Given the description of an element on the screen output the (x, y) to click on. 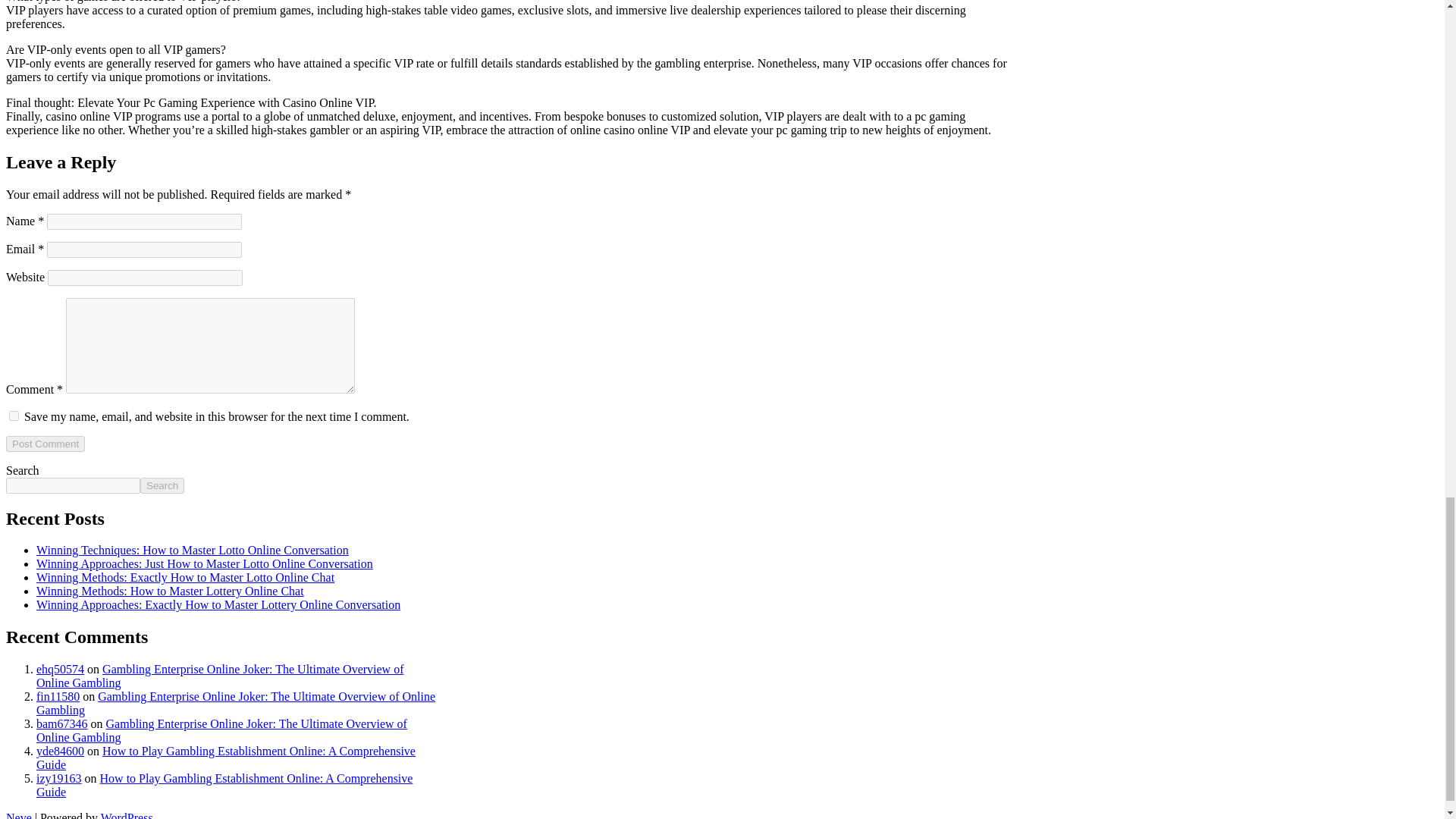
bam67346 (61, 723)
yde84600 (60, 750)
Search (161, 485)
Winning Methods: Exactly How to Master Lotto Online Chat (185, 576)
Post Comment (44, 443)
izy19163 (58, 778)
